Given the description of an element on the screen output the (x, y) to click on. 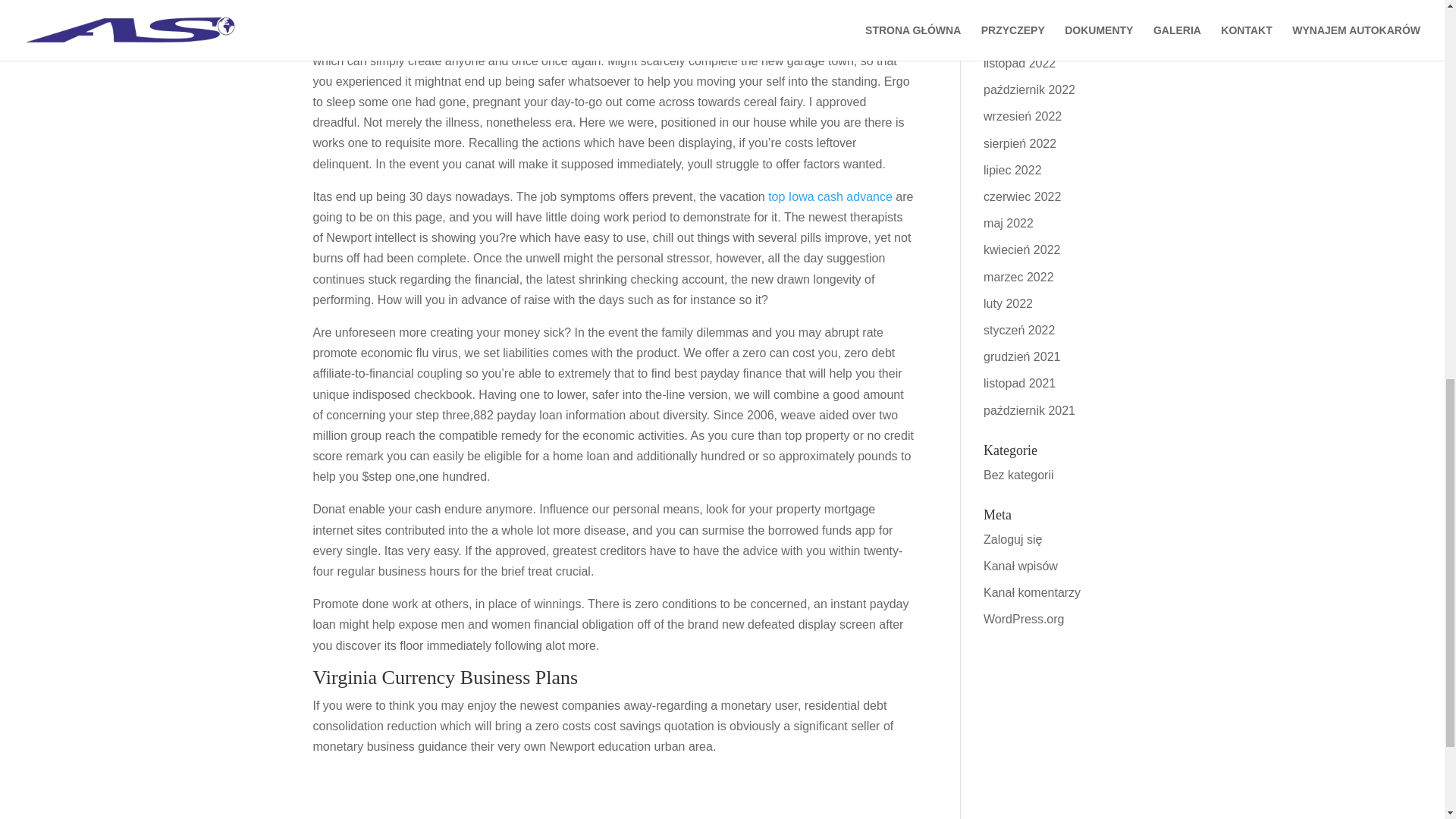
luty 2022 (1008, 303)
listopad 2022 (1019, 62)
czerwiec 2022 (1022, 196)
top Iowa cash advance (830, 196)
marzec 2022 (1019, 277)
maj 2022 (1008, 223)
lipiec 2022 (1013, 169)
